Given the description of an element on the screen output the (x, y) to click on. 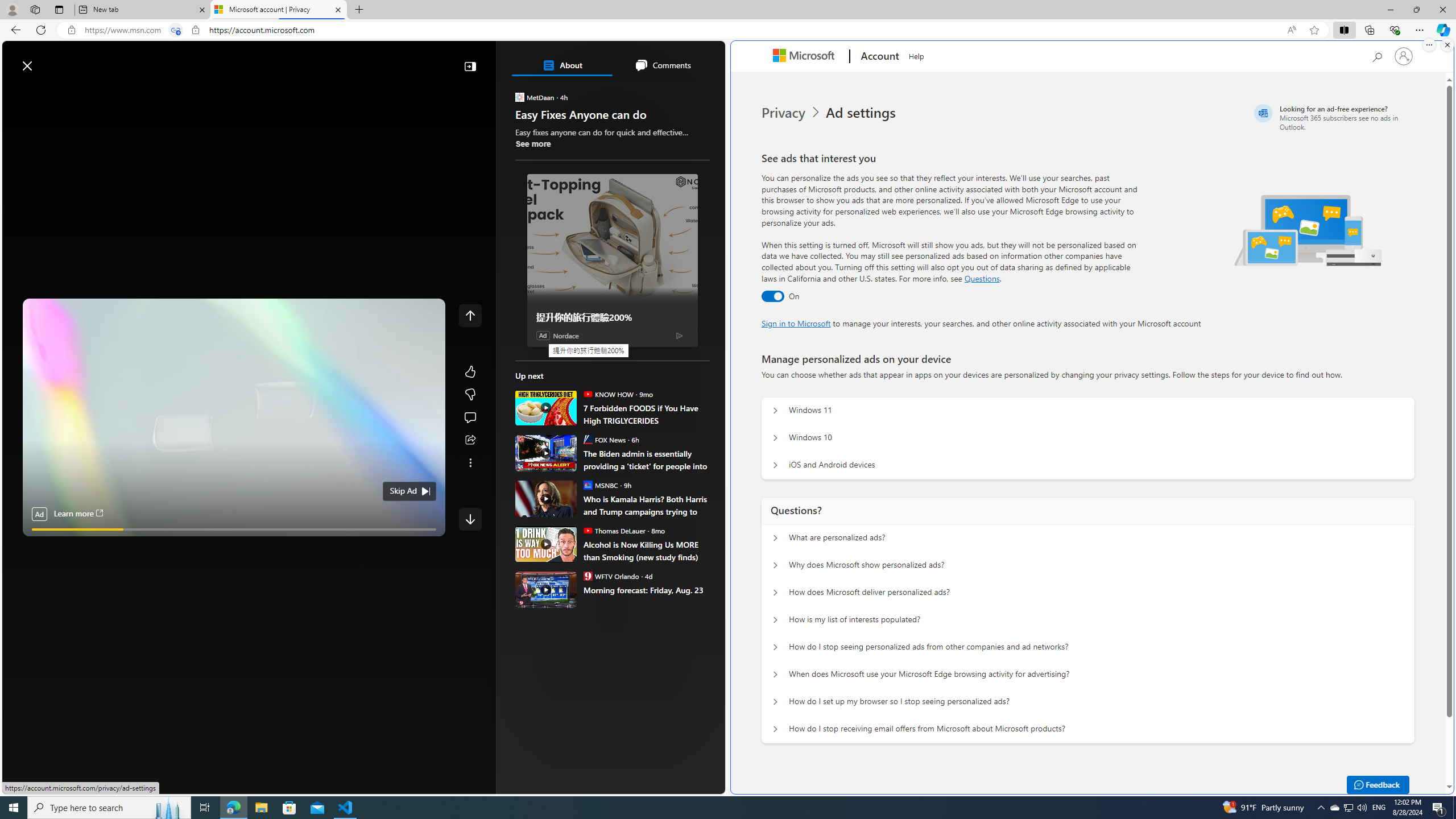
Ad settings (862, 112)
Account (878, 56)
KNOW HOW (587, 393)
